Given the description of an element on the screen output the (x, y) to click on. 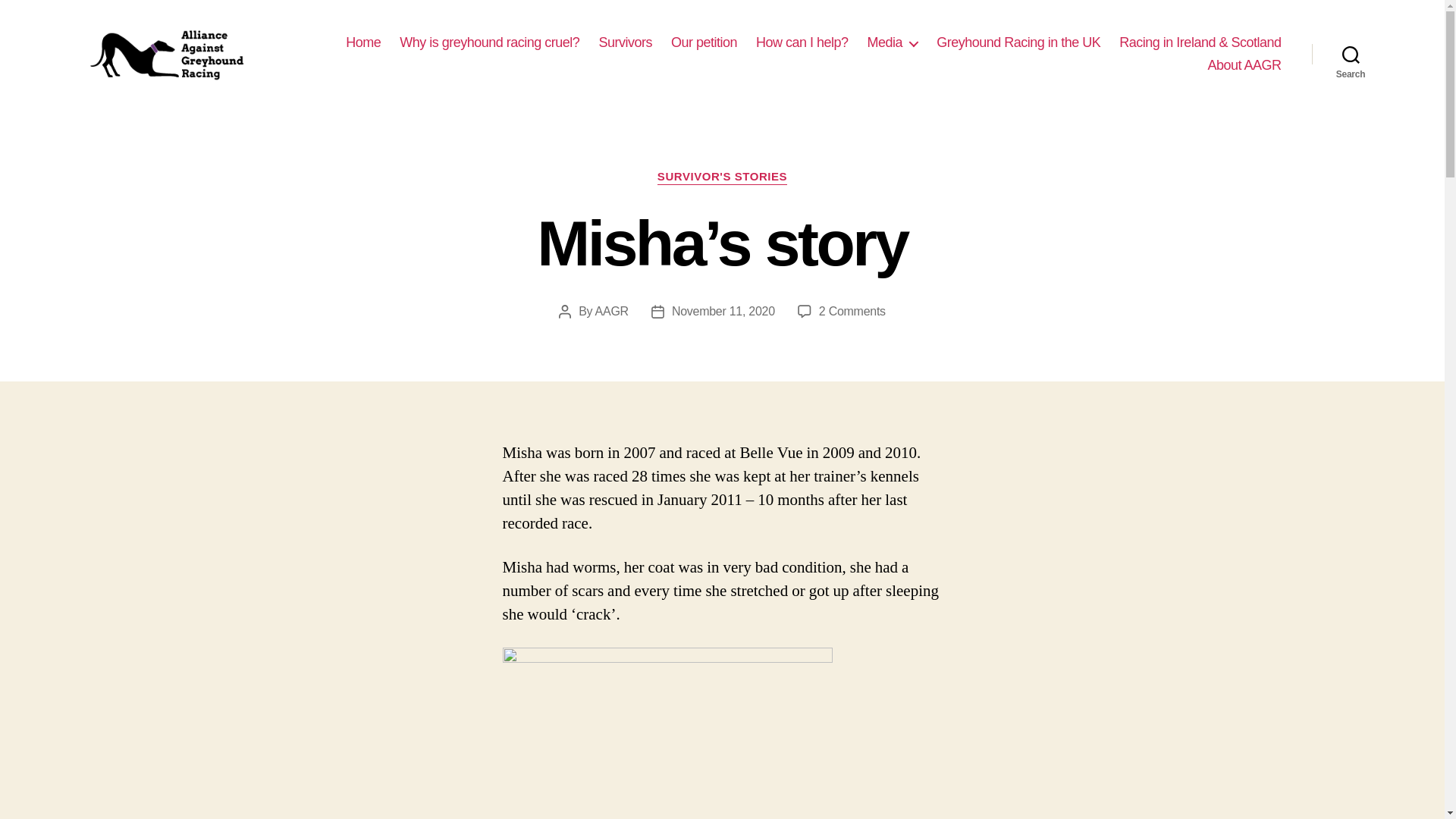
SURVIVOR'S STORIES (722, 177)
Our petition (703, 43)
November 11, 2020 (722, 310)
Search (1350, 54)
Media (892, 43)
Greyhound Racing in the UK (1018, 43)
How can I help? (801, 43)
Home (363, 43)
AAGR (611, 310)
About AAGR (1244, 65)
Survivors (625, 43)
Why is greyhound racing cruel? (488, 43)
